Given the description of an element on the screen output the (x, y) to click on. 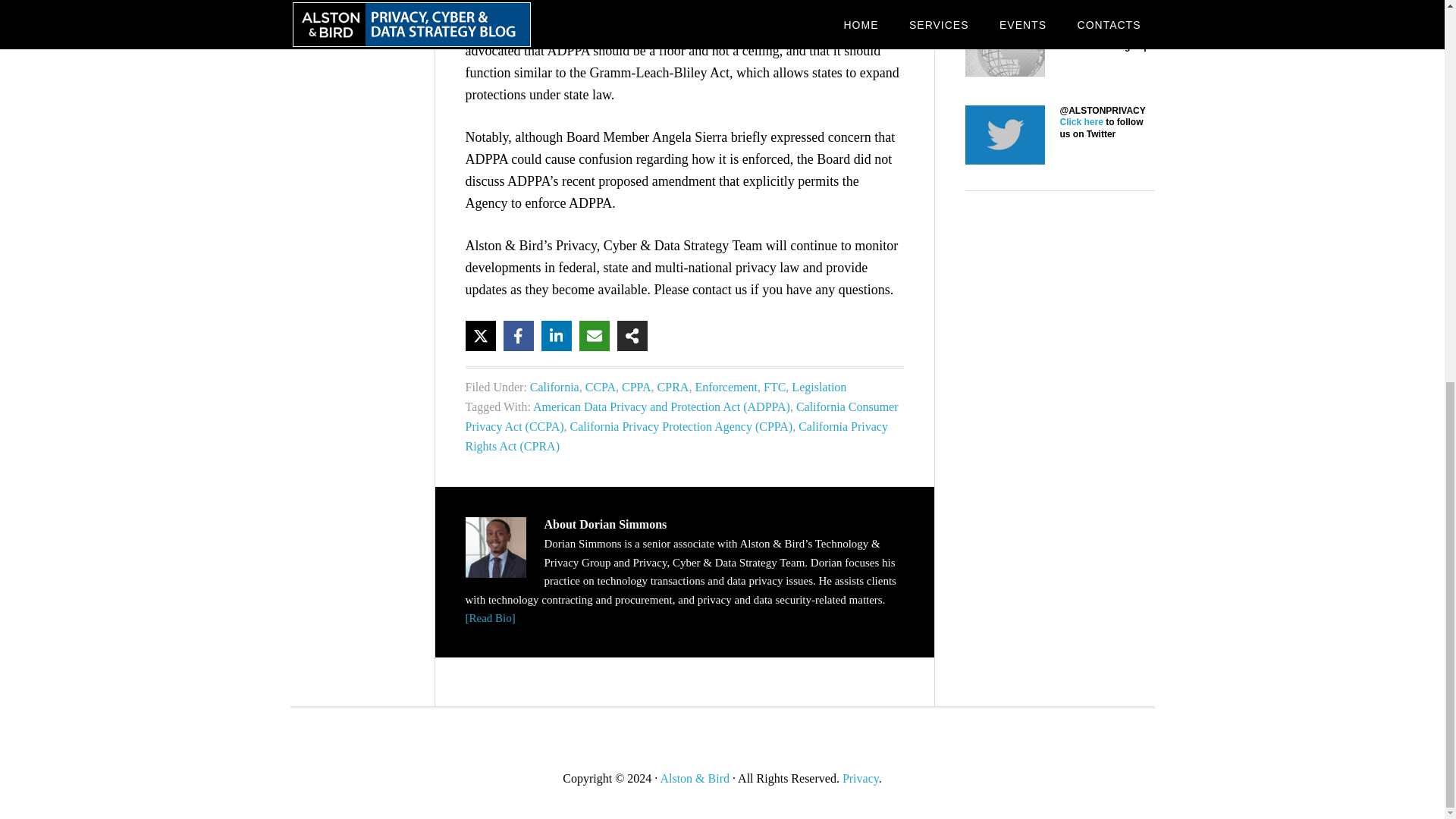
CPPA (635, 386)
California (554, 386)
Click here (1081, 45)
CPRA (673, 386)
FTC (774, 386)
Click here (1081, 122)
Enforcement (725, 386)
Legislation (818, 386)
CCPA (600, 386)
